Given the description of an element on the screen output the (x, y) to click on. 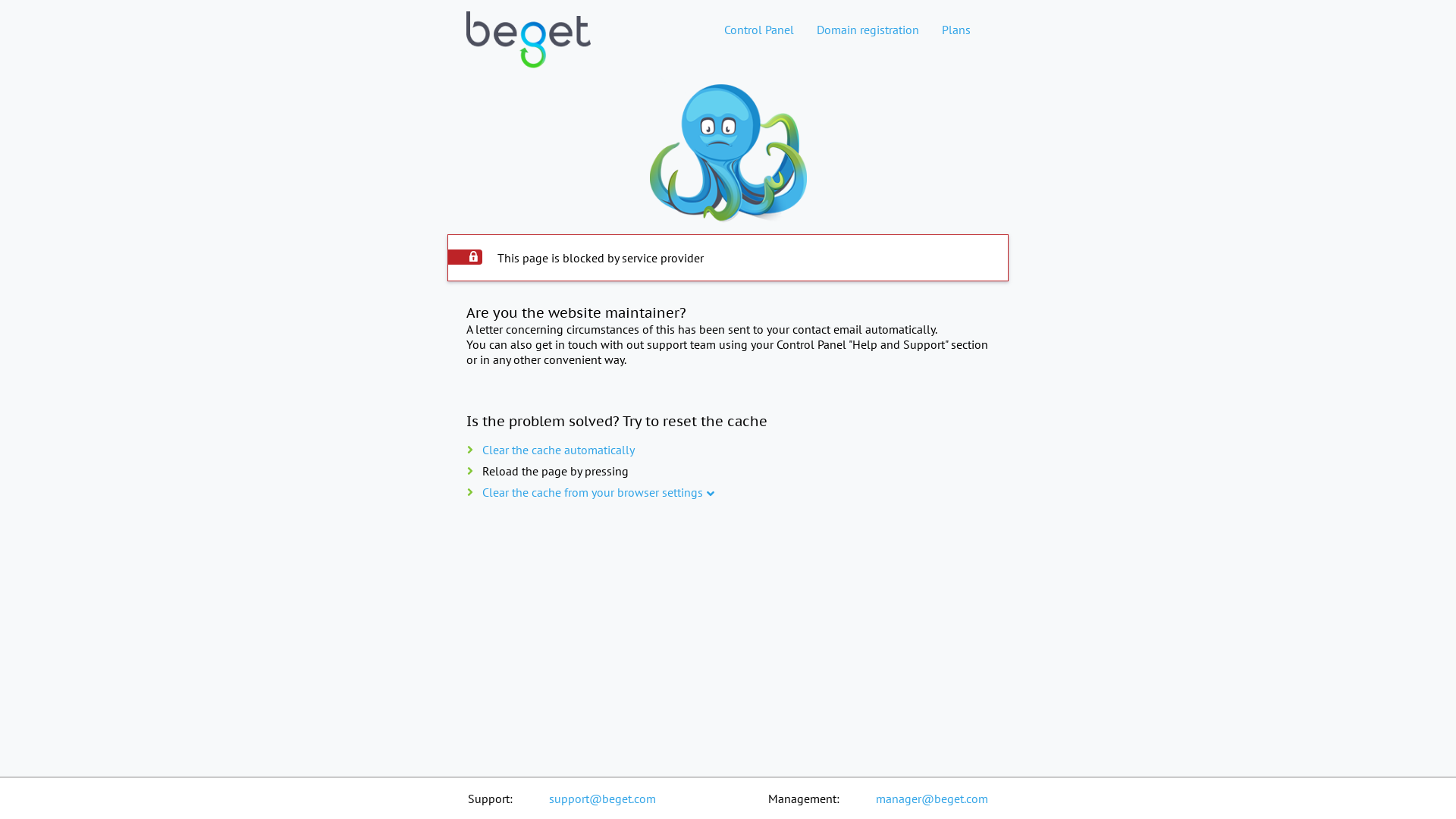
Clear the cache from your browser settings Element type: text (592, 491)
manager@beget.com Element type: text (931, 798)
Plans Element type: text (956, 29)
Clear the cache automatically Element type: text (558, 449)
support@beget.com Element type: text (602, 798)
Control Panel Element type: text (758, 29)
Domain registration Element type: text (867, 29)
Web hosting home page Element type: hover (528, 51)
